Given the description of an element on the screen output the (x, y) to click on. 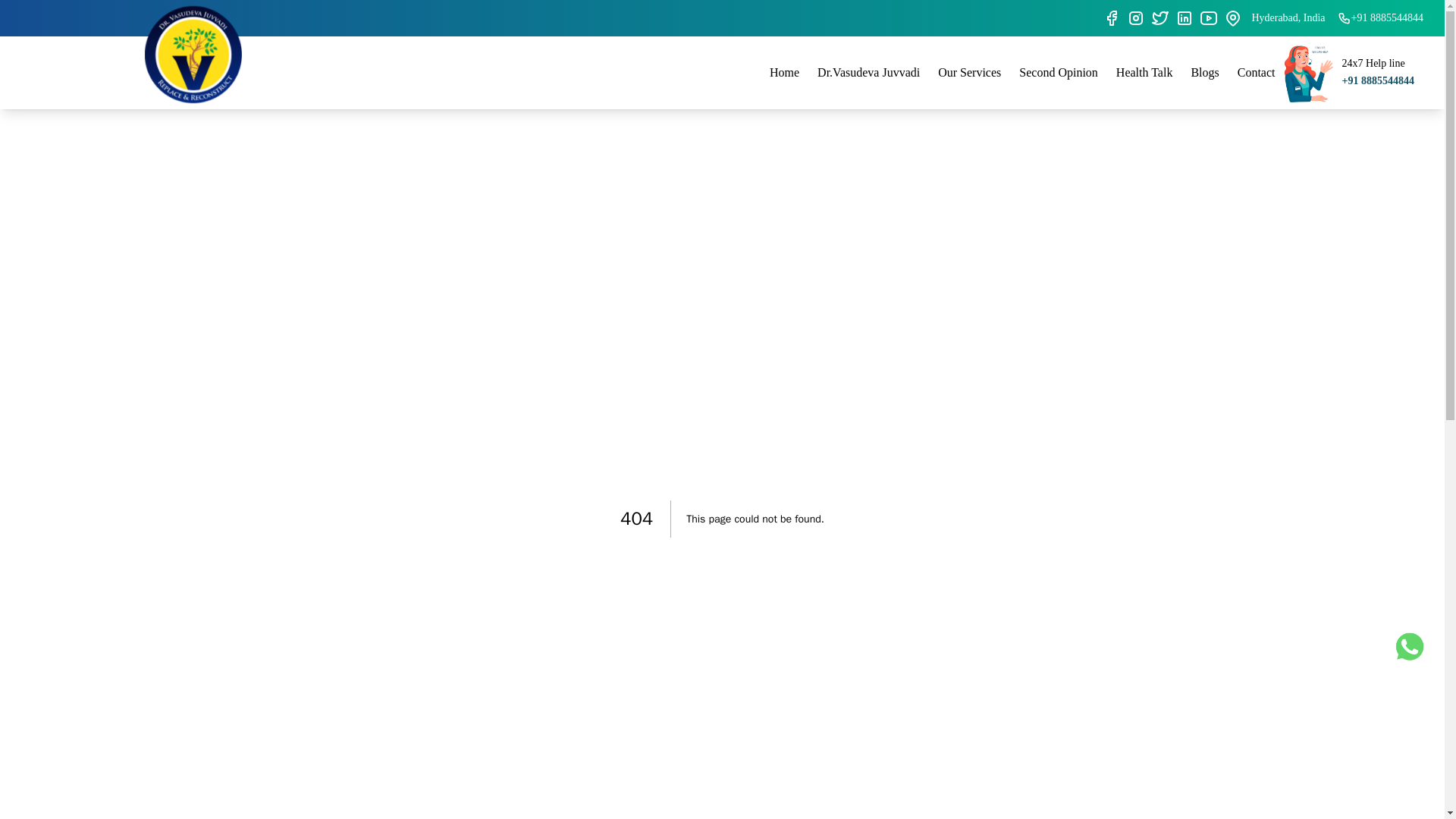
Blogs (1203, 72)
Our Services (969, 72)
Second Opinion (1058, 72)
Home (784, 72)
Health Talk (1144, 72)
Contact (1256, 72)
Dr.Vasudeva Juvvadi (868, 72)
